Given the description of an element on the screen output the (x, y) to click on. 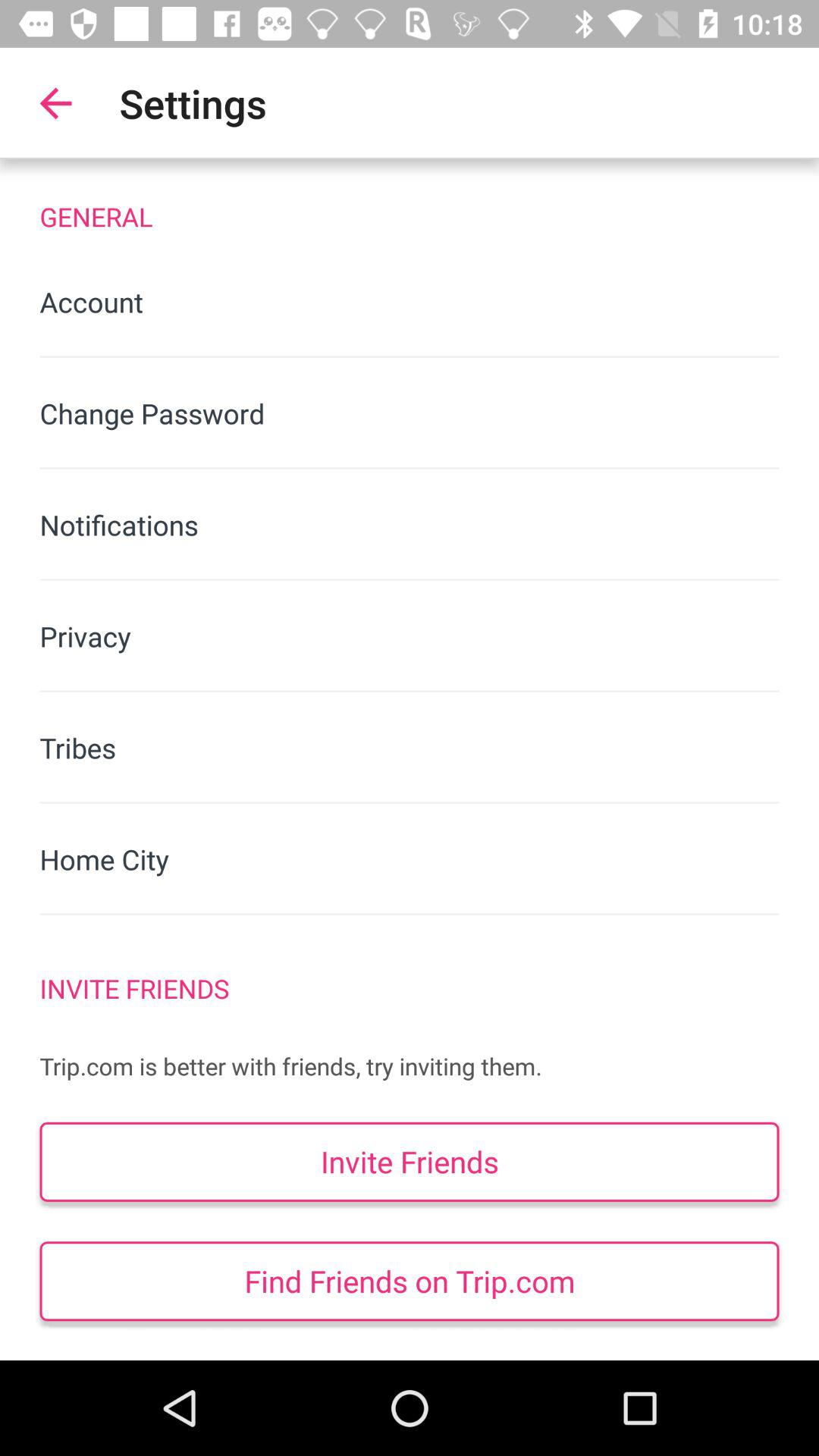
press item next to settings item (55, 103)
